Given the description of an element on the screen output the (x, y) to click on. 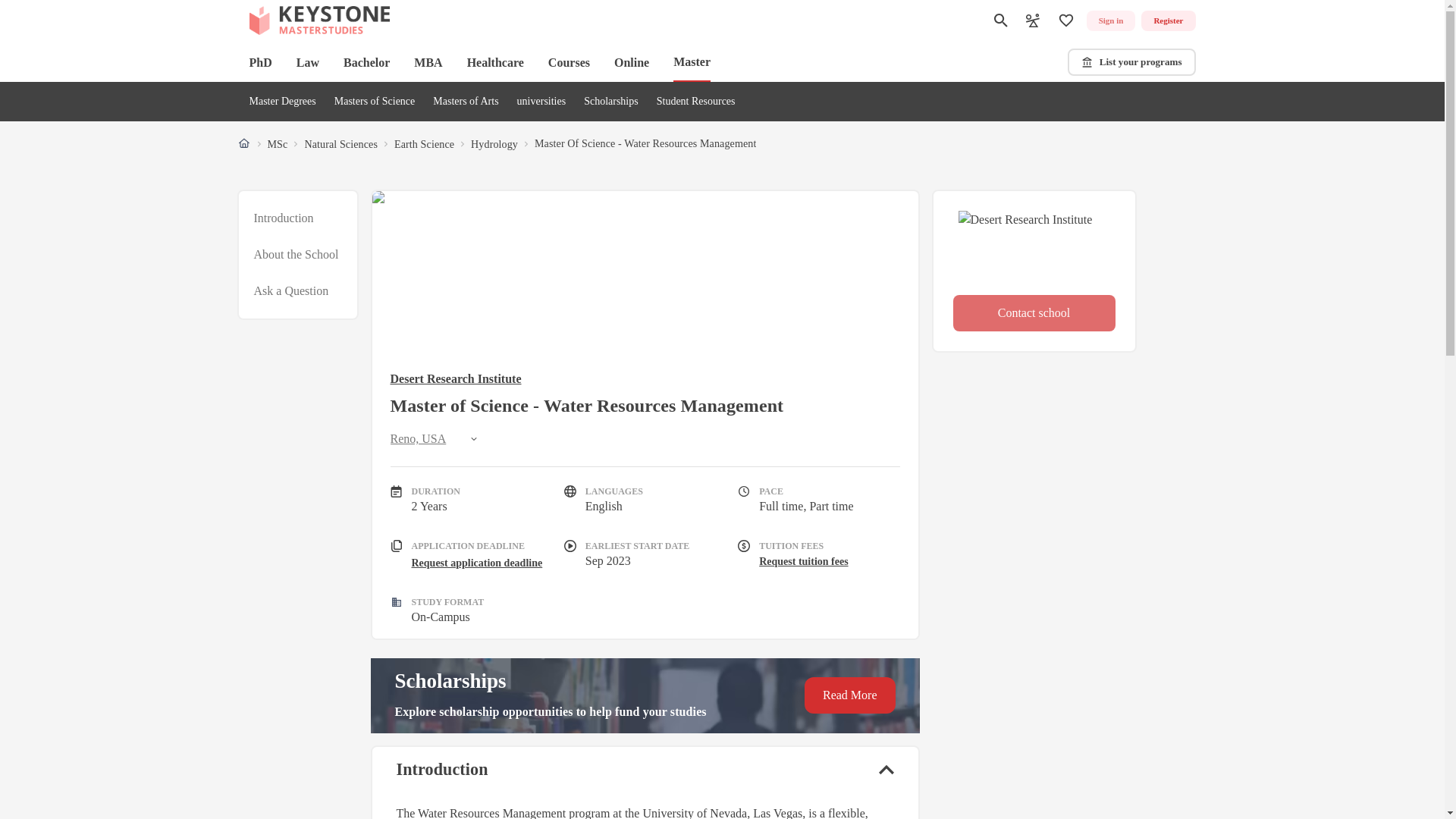
Hydrology (494, 144)
Courses (568, 63)
Masters of Science (374, 101)
Master (691, 62)
Healthcare (495, 63)
Sign in (1110, 20)
Natural Sciences (340, 144)
Online (631, 63)
Master Degrees (281, 101)
Read More (850, 695)
About the School (295, 254)
Student Resources (296, 254)
Desert Research Institute (695, 101)
